Given the description of an element on the screen output the (x, y) to click on. 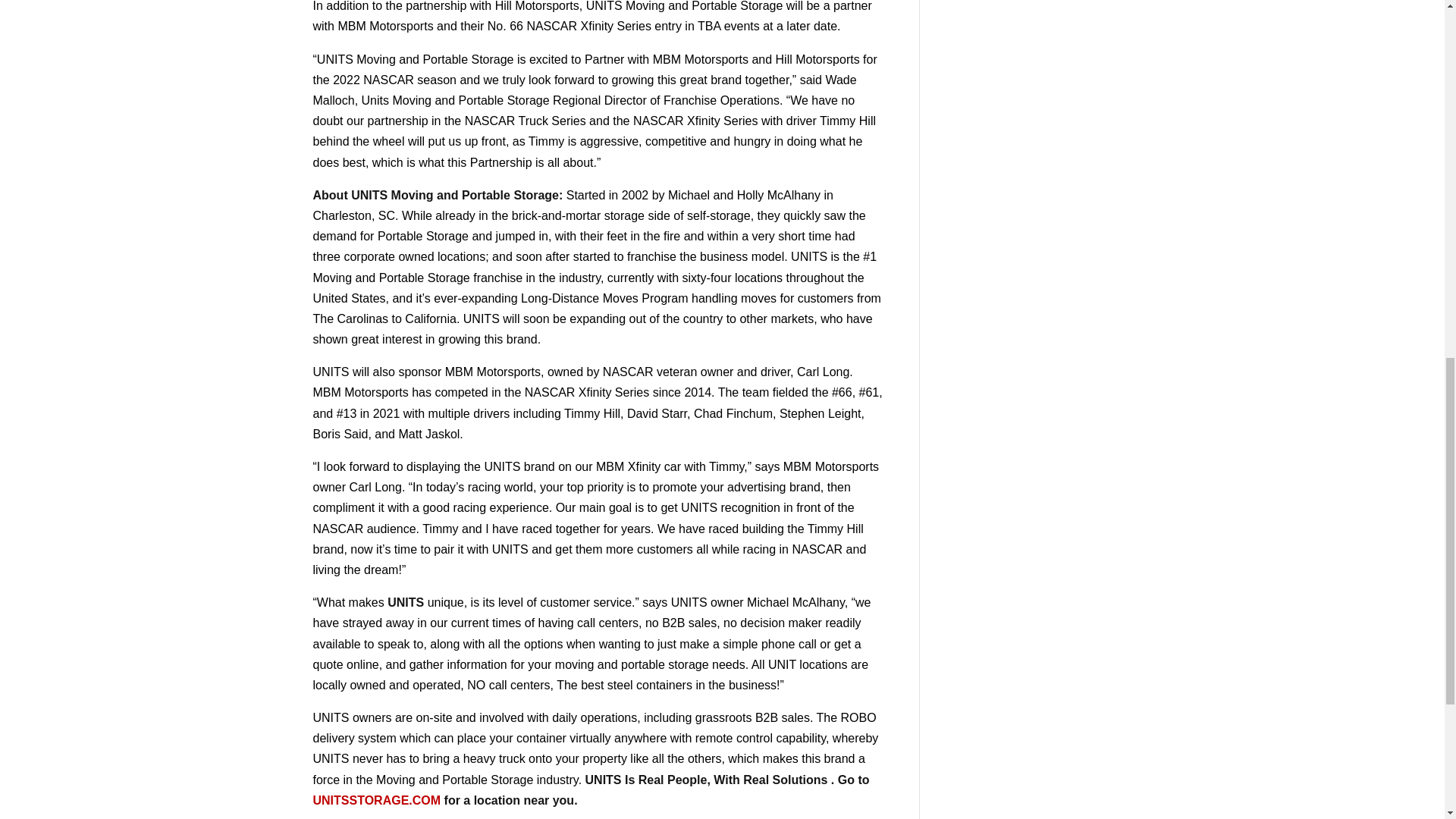
UNITSSTORAGE.COM (377, 799)
